Given the description of an element on the screen output the (x, y) to click on. 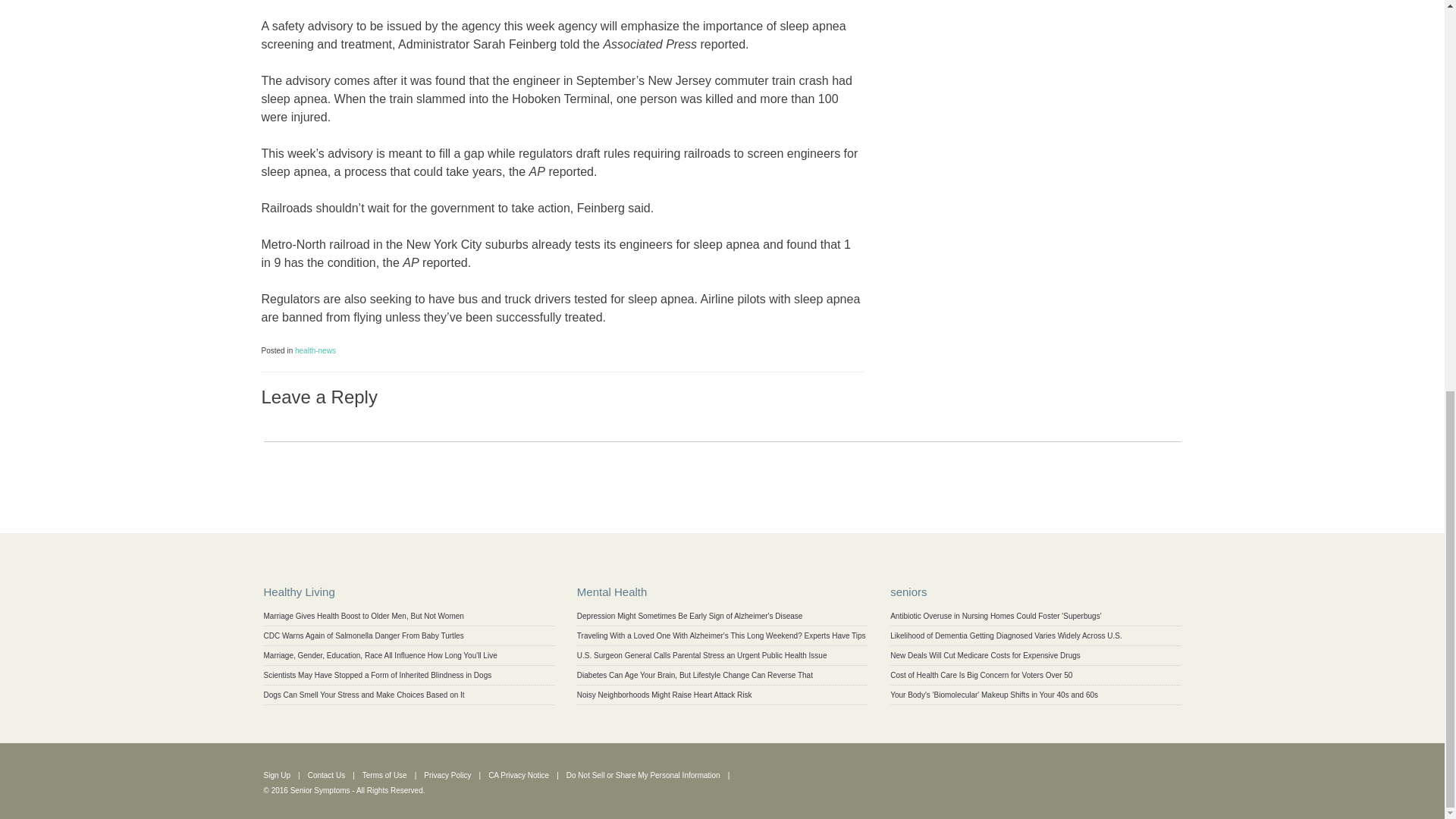
CDC Warns Again of Salmonella Danger From Baby Turtles (363, 635)
Privacy Policy (446, 775)
New Deals Will Cut Medicare Costs for Expensive Drugs (984, 655)
Dogs Can Smell Your Stress and Make Choices Based on It (363, 695)
Terms of Use (384, 775)
Contact Us (326, 775)
